Given the description of an element on the screen output the (x, y) to click on. 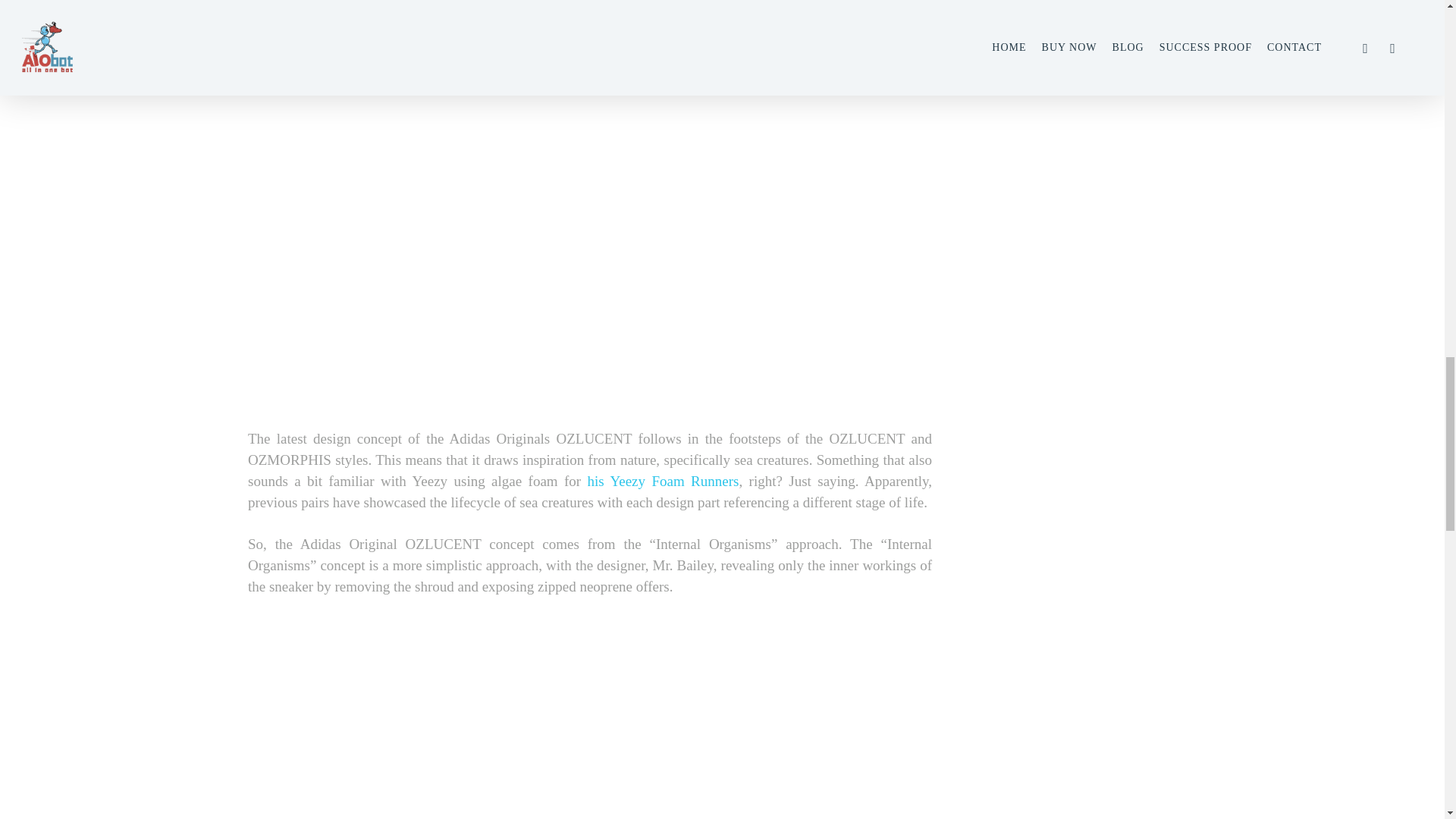
his Yeezy Foam Runners (663, 480)
